Given the description of an element on the screen output the (x, y) to click on. 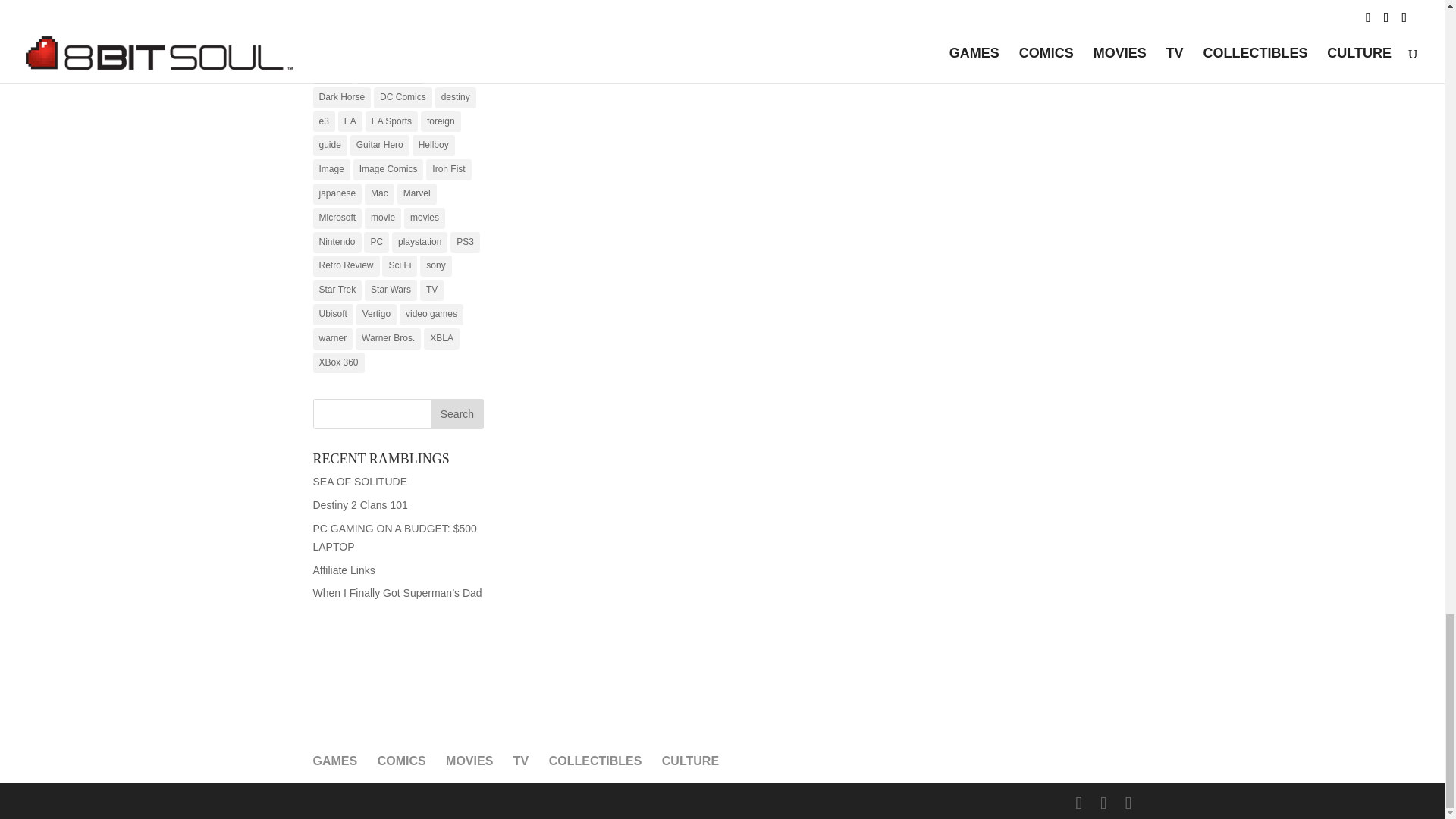
Battlestar Galactica (358, 48)
Guitar Hero (379, 145)
Activision (377, 6)
e3 (323, 121)
Image (331, 169)
comic books (437, 48)
Hellboy (433, 145)
DC Comics (403, 97)
foreign (440, 121)
Batman (374, 25)
